Given the description of an element on the screen output the (x, y) to click on. 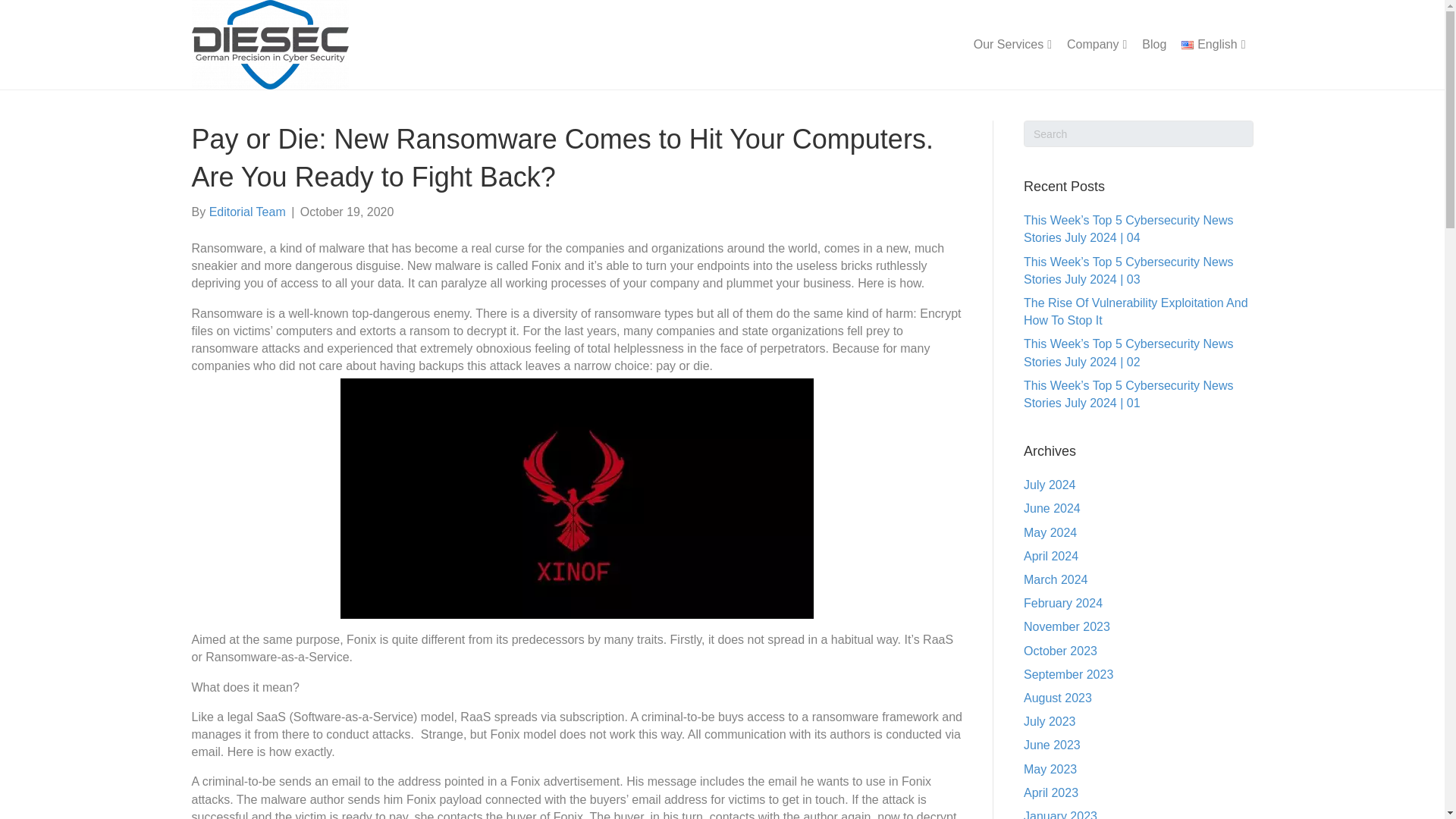
July 2024 (1049, 484)
April 2024 (1050, 555)
Blog (1153, 44)
Company (1096, 45)
February 2024 (1062, 603)
March 2024 (1055, 579)
Our Services (1012, 45)
English (1212, 45)
June 2024 (1051, 508)
Type and press Enter to search. (1138, 133)
May 2024 (1050, 532)
The Rise Of Vulnerability Exploitation And How To Stop It (1135, 311)
November 2023 (1066, 626)
Editorial Team (247, 211)
